Given the description of an element on the screen output the (x, y) to click on. 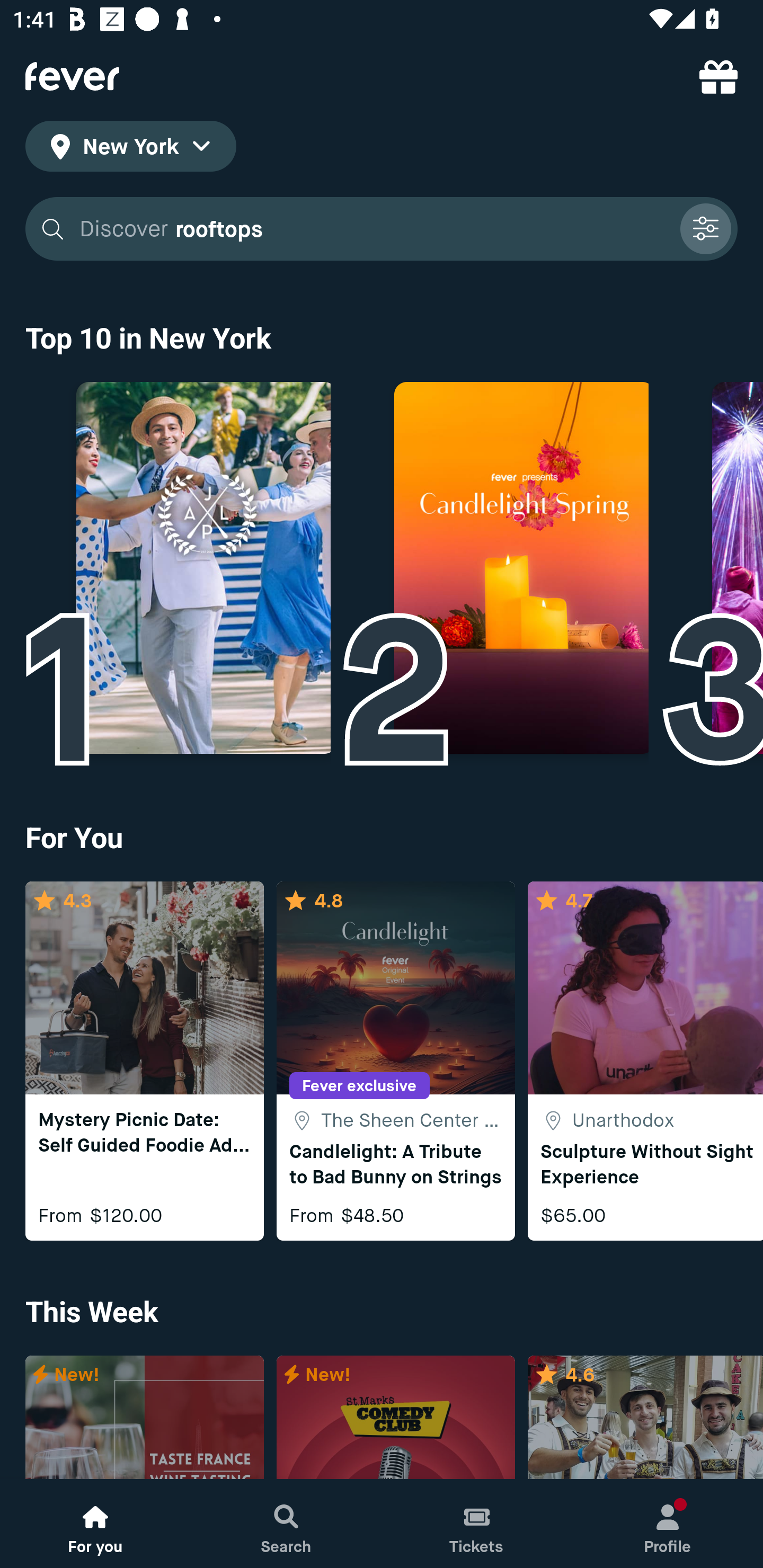
referral (718, 75)
location icon New York location icon (130, 149)
Discover rooftops (381, 228)
Discover rooftops (373, 228)
cover image New! label New! (144, 1417)
cover image New! label New! Fever exclusive (395, 1417)
cover image 50.0 4.6 (645, 1417)
Search (285, 1523)
Tickets (476, 1523)
Profile, New notification Profile (667, 1523)
